Given the description of an element on the screen output the (x, y) to click on. 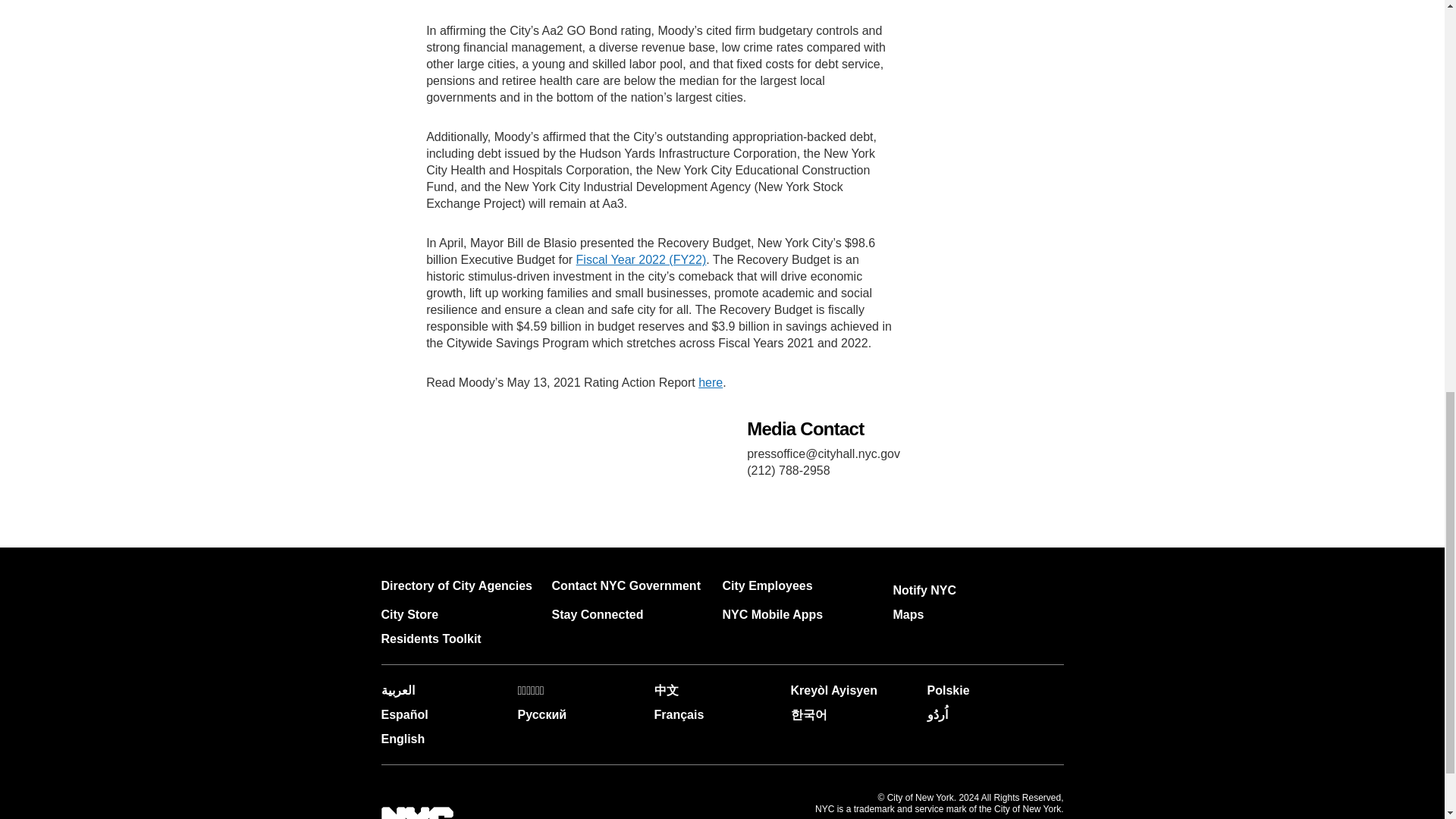
Notify NYC (924, 590)
Directory of City Agencies (455, 585)
City Store (409, 614)
here (710, 382)
City Employees (767, 585)
Contact NYC Government (625, 585)
